Given the description of an element on the screen output the (x, y) to click on. 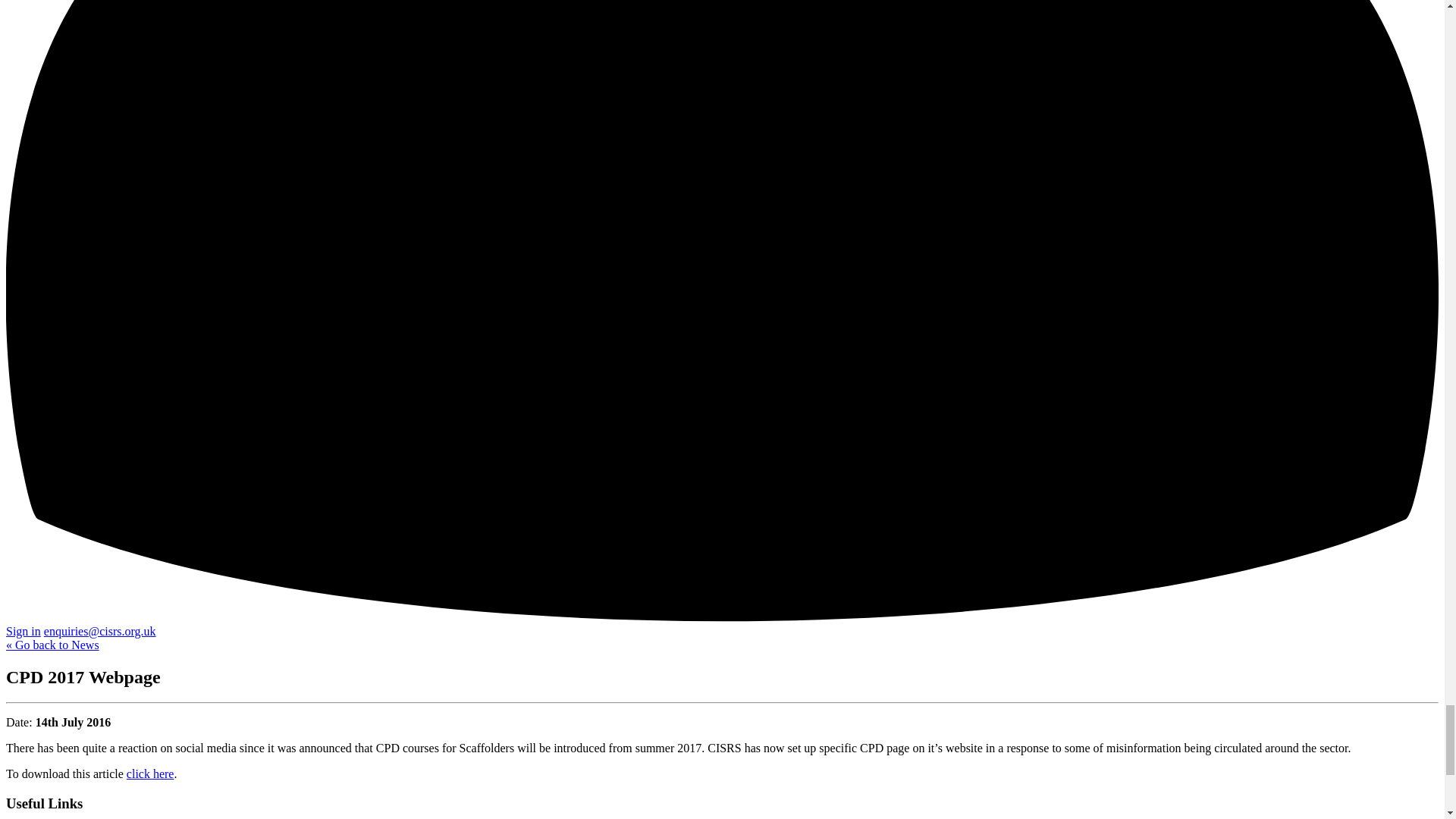
click here (150, 773)
